Given the description of an element on the screen output the (x, y) to click on. 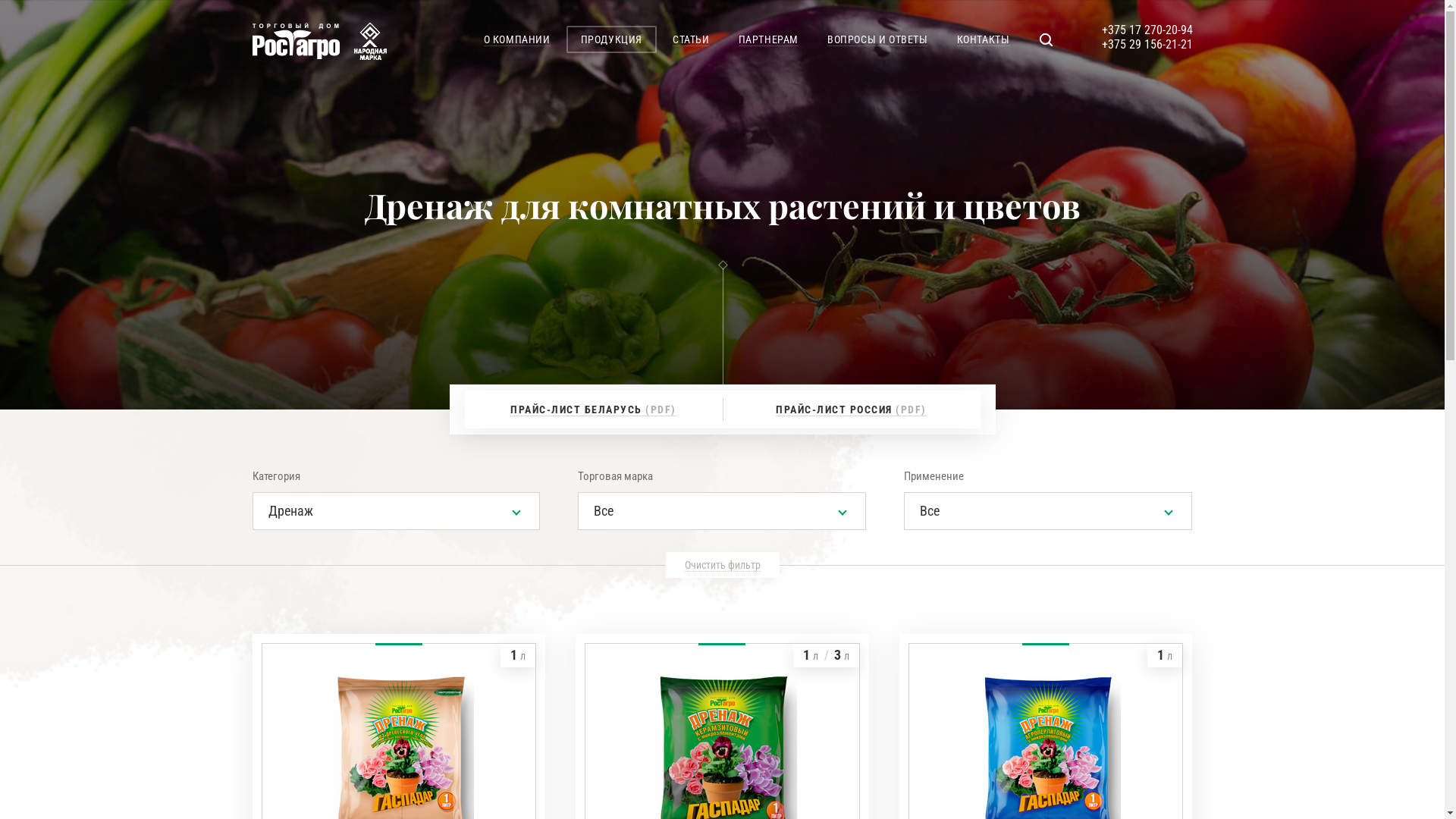
+375 29 156-21-21 Element type: text (1146, 44)
+375 17 270-20-94 Element type: text (1146, 29)
